Given the description of an element on the screen output the (x, y) to click on. 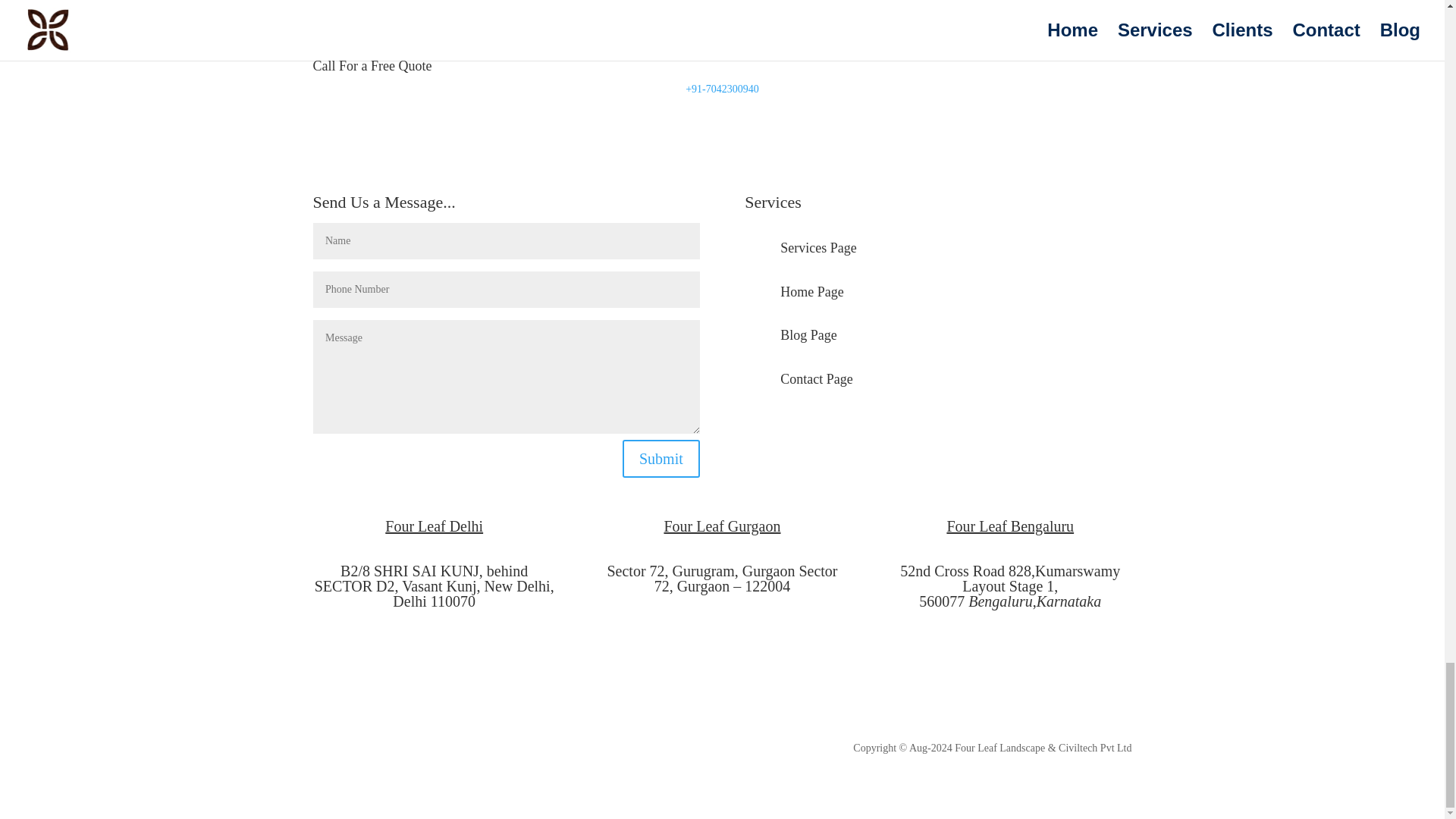
Four Leaf Delhi (434, 585)
Four Leaf Gurgaon (722, 578)
Services Page (818, 247)
Four Leaf Bengaluru (1009, 585)
Submit (661, 458)
